Given the description of an element on the screen output the (x, y) to click on. 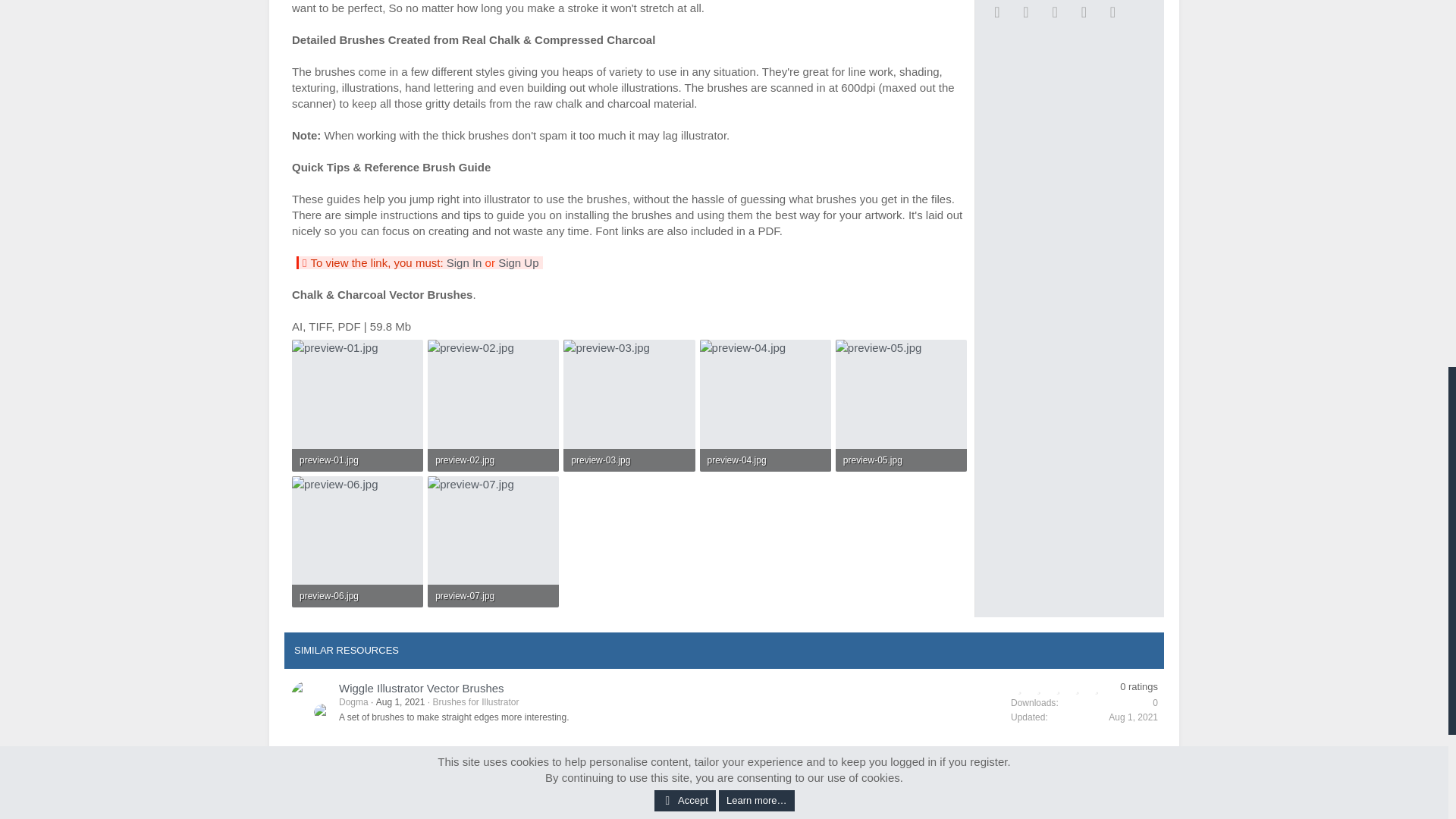
preview-04.jpg (765, 459)
preview-02.jpg (493, 459)
preview-06.jpg (356, 595)
preview-01.jpg (356, 459)
to Sign In (463, 262)
preview-03.jpg (628, 459)
to Sign Up (517, 262)
preview-07.jpg (493, 595)
preview-05.jpg (901, 459)
